Given the description of an element on the screen output the (x, y) to click on. 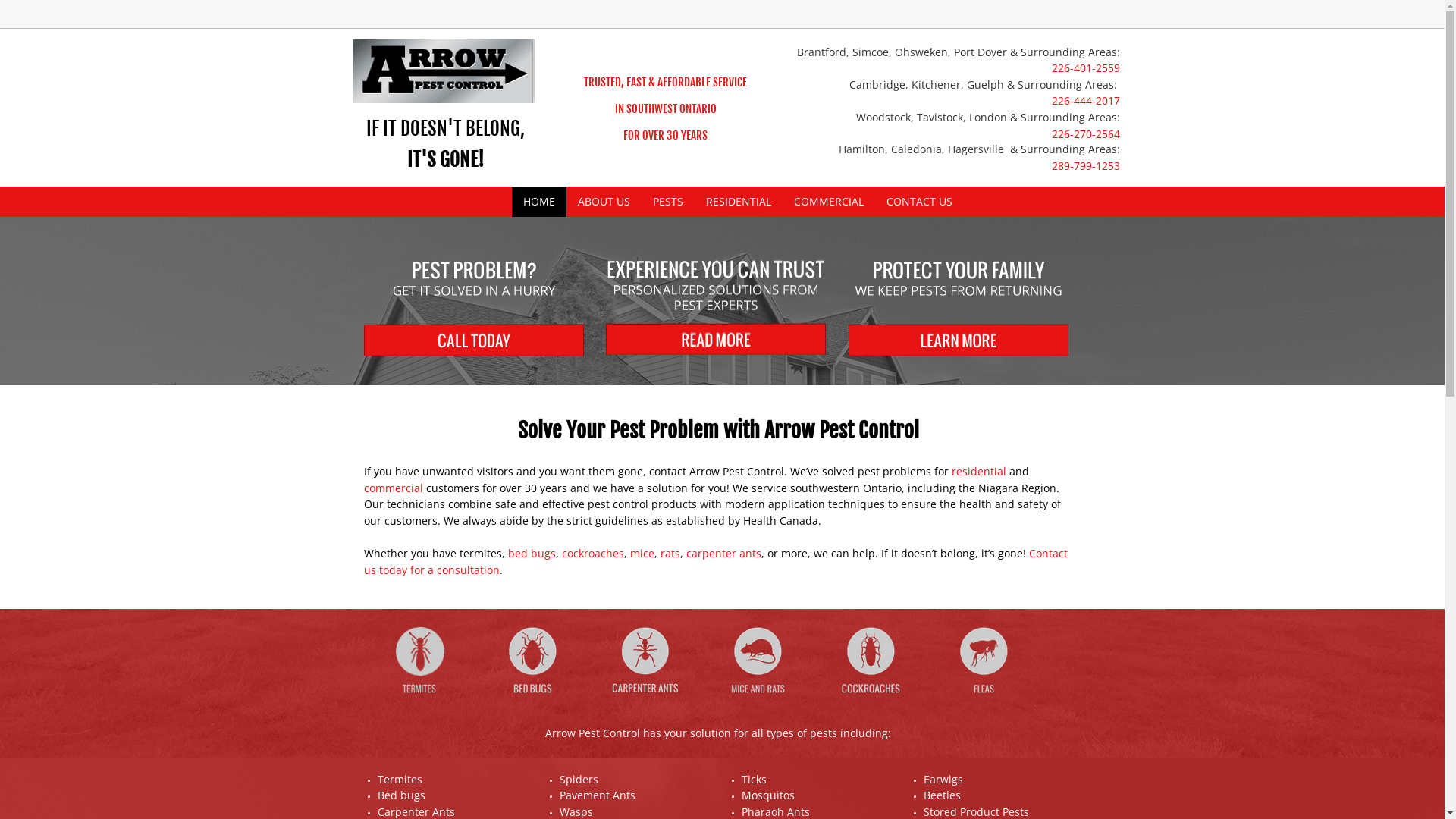
ABOUT US Element type: text (602, 201)
HOME Element type: text (538, 201)
Contact us today for a consultation Element type: text (715, 561)
rats Element type: text (669, 553)
226-401-2559 Element type: text (1085, 69)
289-799-1253 Element type: text (1085, 166)
residential Element type: text (977, 471)
RESIDENTIAL Element type: text (738, 201)
Embedded Content Element type: hover (938, 22)
CONTACT US Element type: text (919, 201)
carpenter ants Element type: text (722, 553)
COMMERCIAL Element type: text (828, 201)
cockroaches Element type: text (592, 553)
226-444-2017 Element type: text (1085, 101)
bed bugs Element type: text (531, 553)
mice Element type: text (641, 553)
commercial Element type: text (393, 487)
226-270-2564 Element type: text (1085, 134)
Embedded Content Element type: hover (1063, 19)
